Given the description of an element on the screen output the (x, y) to click on. 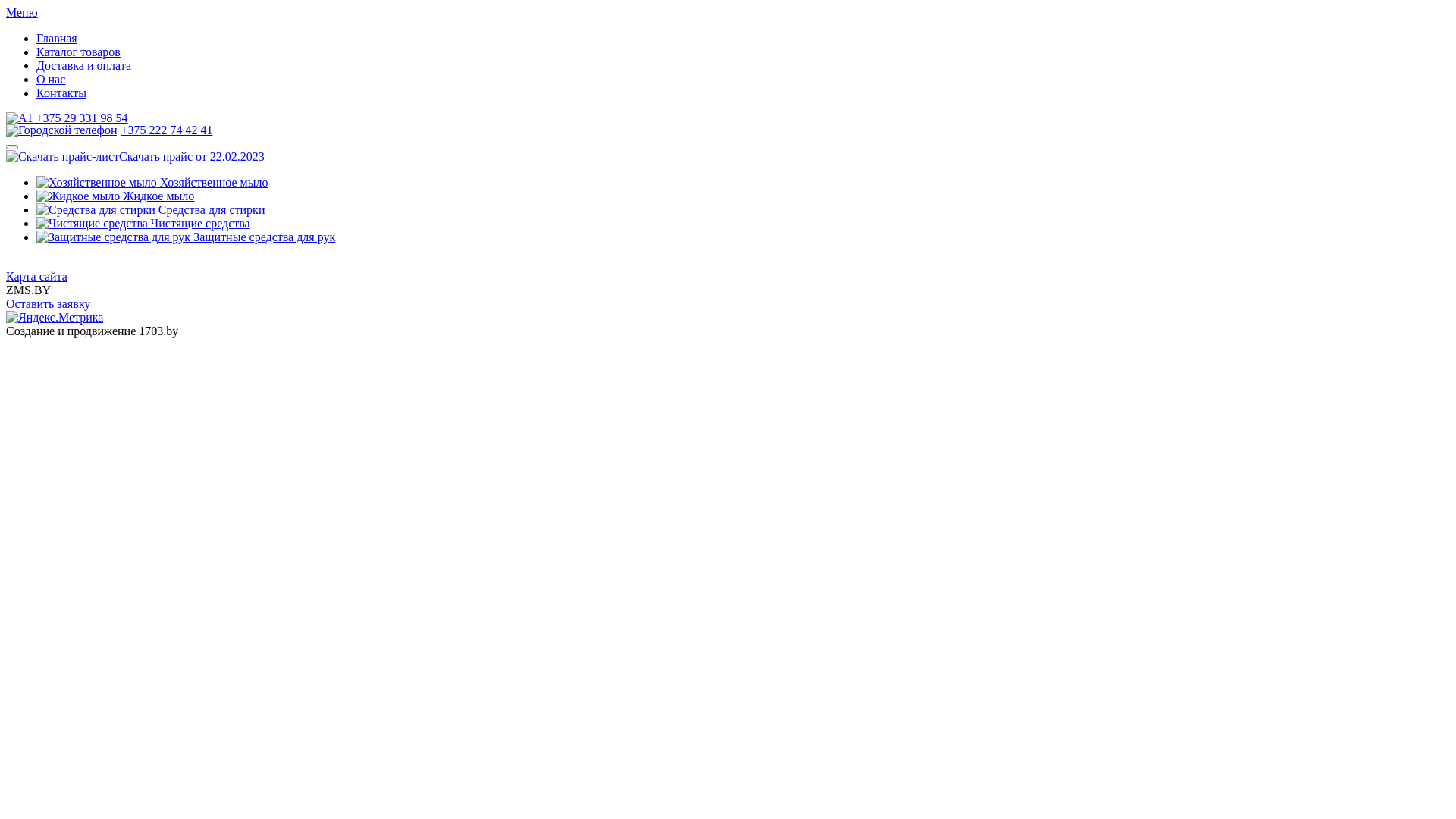
+375 222 74 42 41 Element type: text (109, 129)
+375 29 331 98 54 Element type: text (67, 117)
A1 Element type: hover (19, 118)
